Given the description of an element on the screen output the (x, y) to click on. 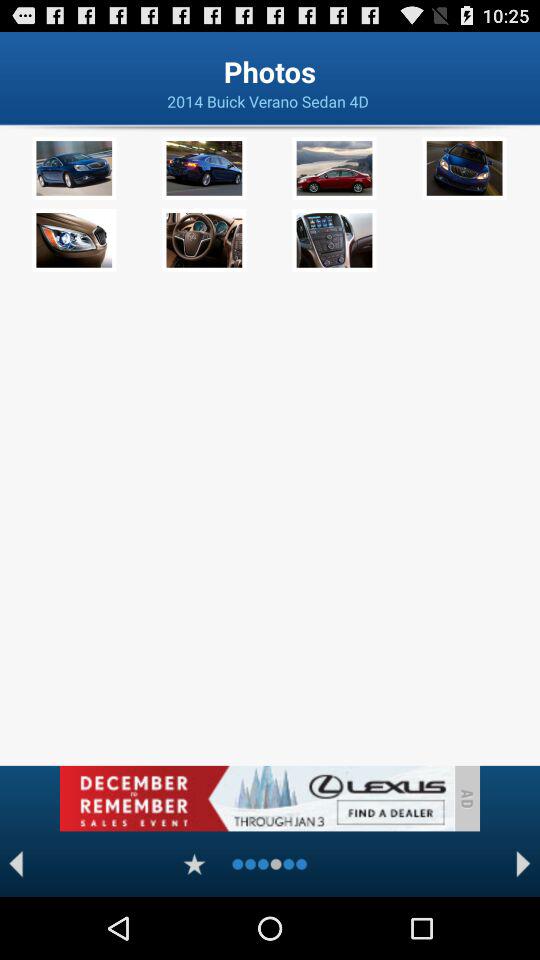
open advertisement (256, 798)
